Given the description of an element on the screen output the (x, y) to click on. 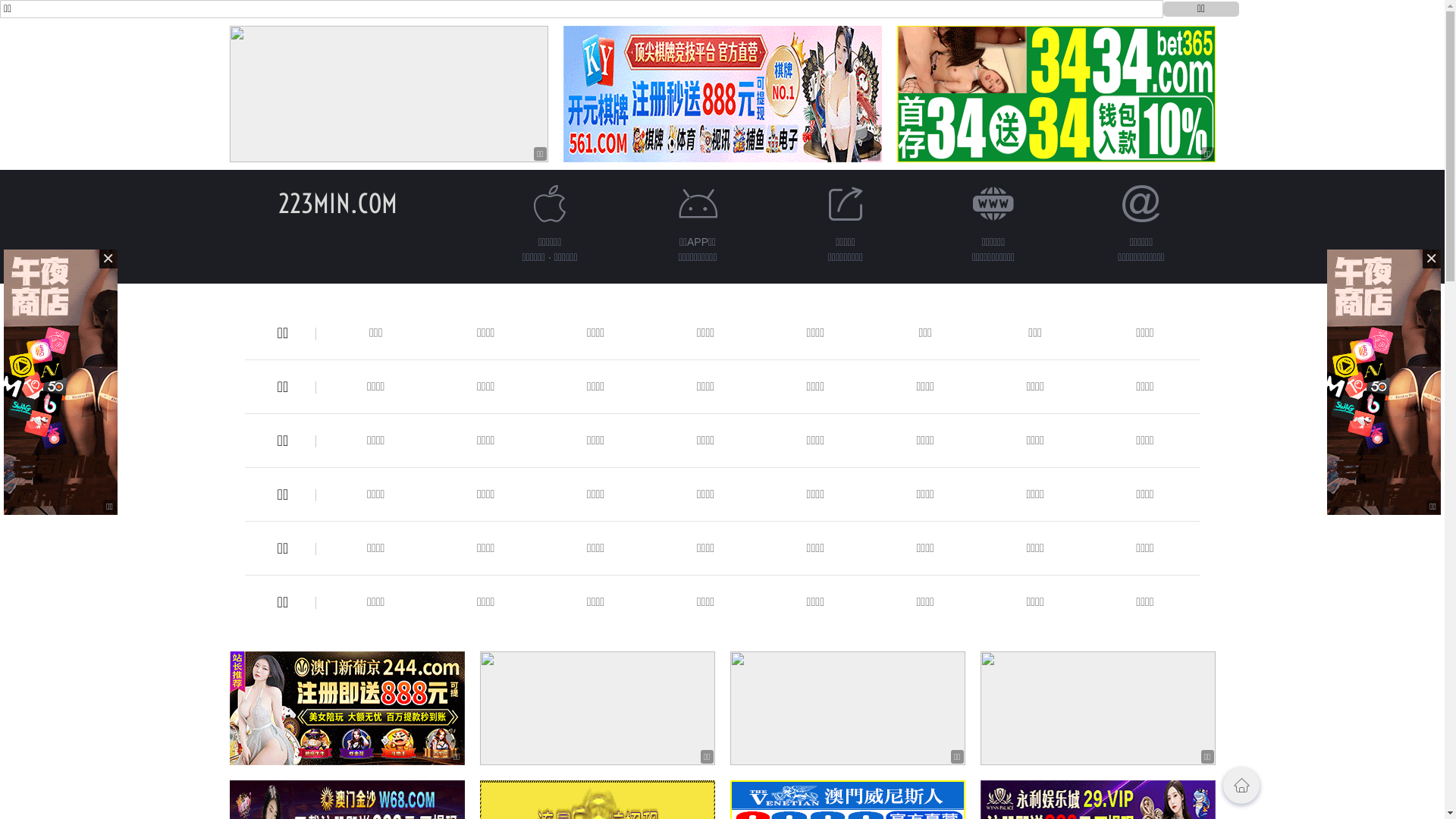
223MIN.COM Element type: text (337, 203)
